Given the description of an element on the screen output the (x, y) to click on. 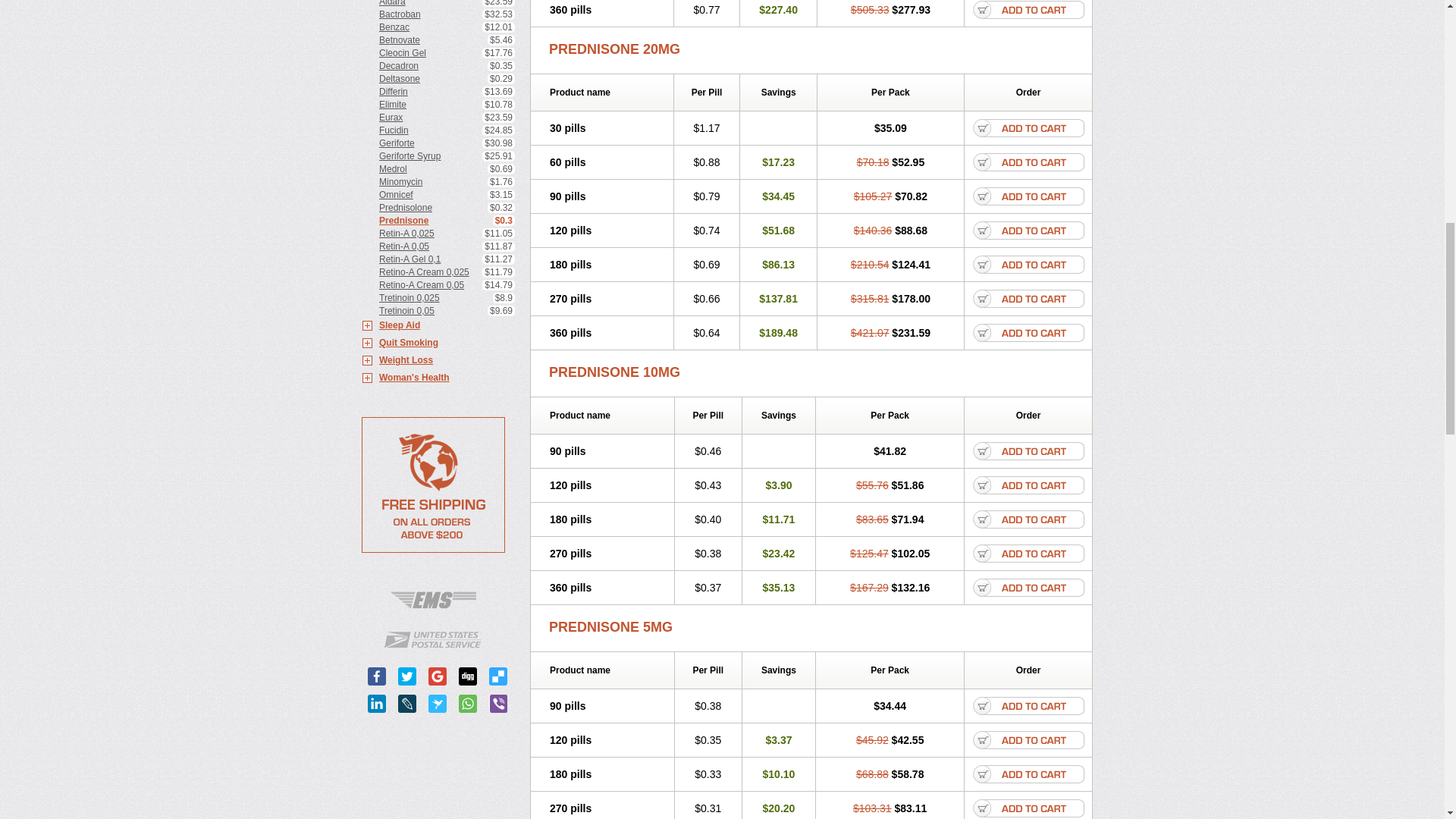
Livejournal (406, 703)
Whatsapp (467, 703)
Surfingbird (437, 703)
Digg (467, 676)
Delicious (497, 676)
Facebook (376, 676)
Viber (497, 703)
LinkedIn (376, 703)
Twitter (406, 676)
